Given the description of an element on the screen output the (x, y) to click on. 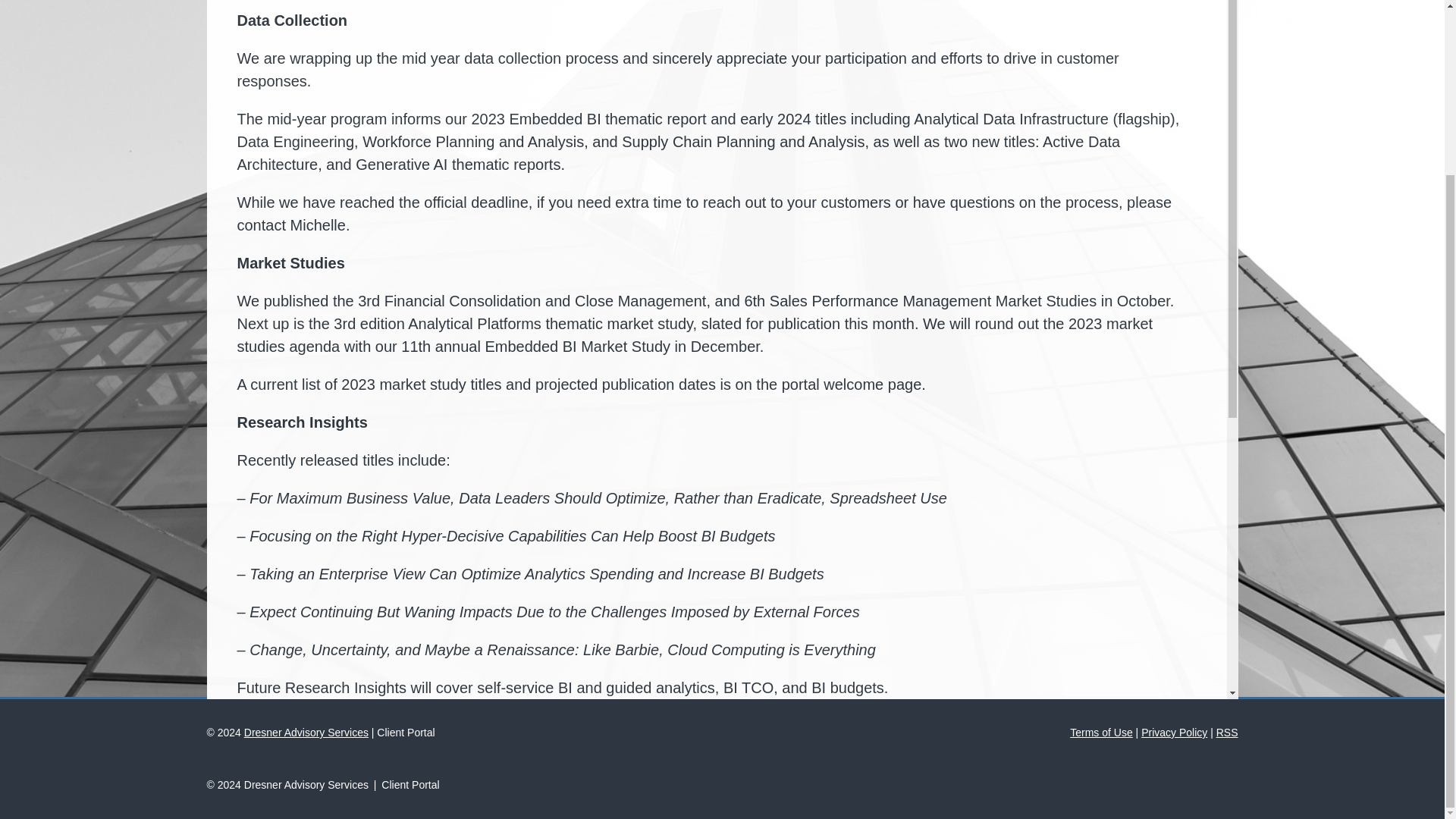
Dresner Advisory Services (306, 732)
Dresner Advisory Services (306, 784)
Terms of Use (1101, 732)
Privacy Policy (1174, 732)
RSS (1227, 732)
